Given the description of an element on the screen output the (x, y) to click on. 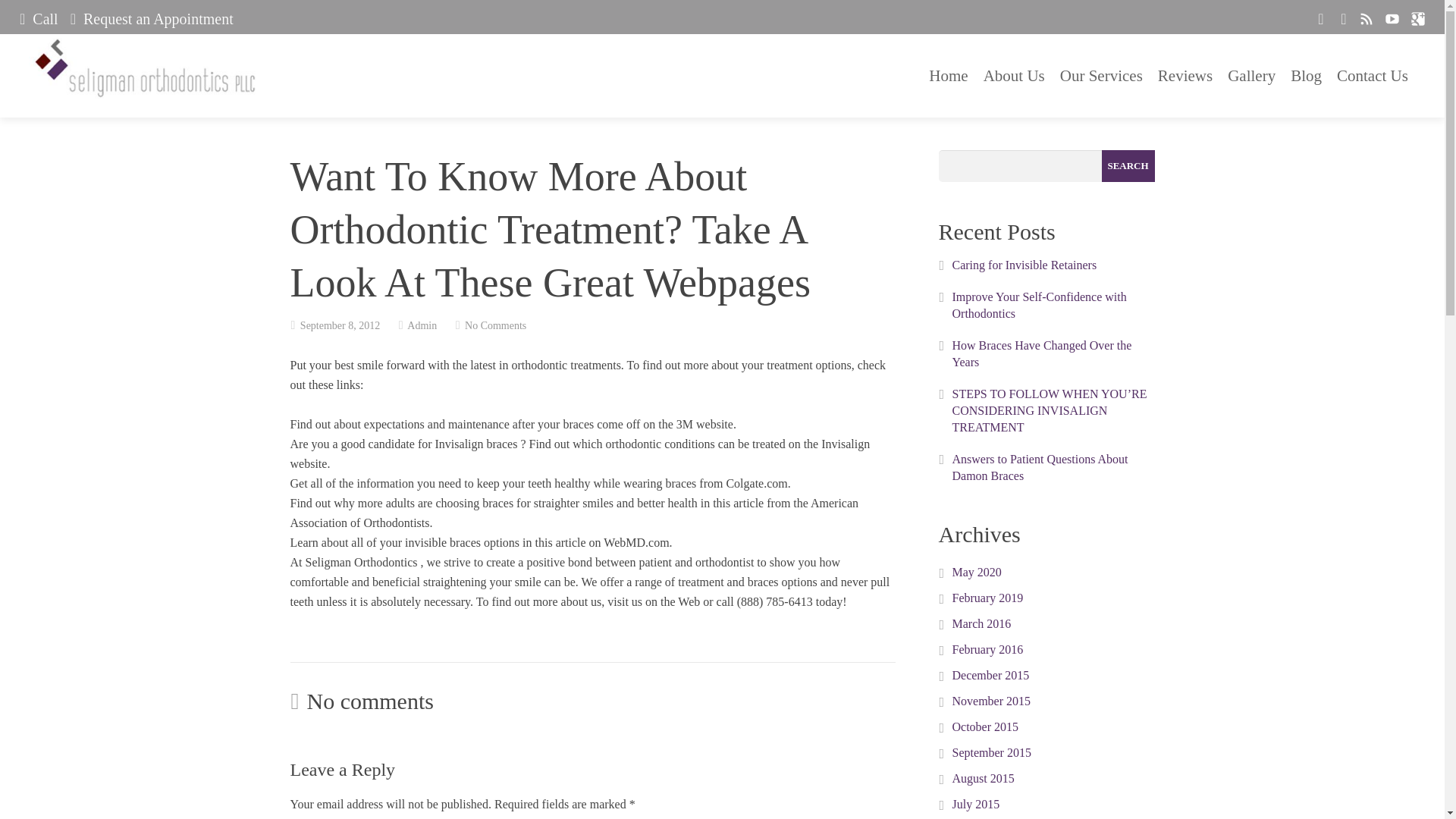
May 2020 (976, 571)
Search (1127, 165)
No Comments (494, 325)
February 2019 (987, 597)
Improve Your Self-Confidence with Orthodontics (1039, 305)
February 2016 (987, 649)
About Us (1013, 76)
Caring for Invisible Retainers (1024, 264)
Answers to Patient Questions About Damon Braces (1040, 467)
March 2016 (981, 623)
Search (1127, 165)
Contact Us (1372, 76)
Request an Appointment (151, 18)
How Braces Have Changed Over the Years (1042, 353)
December 2015 (990, 675)
